Given the description of an element on the screen output the (x, y) to click on. 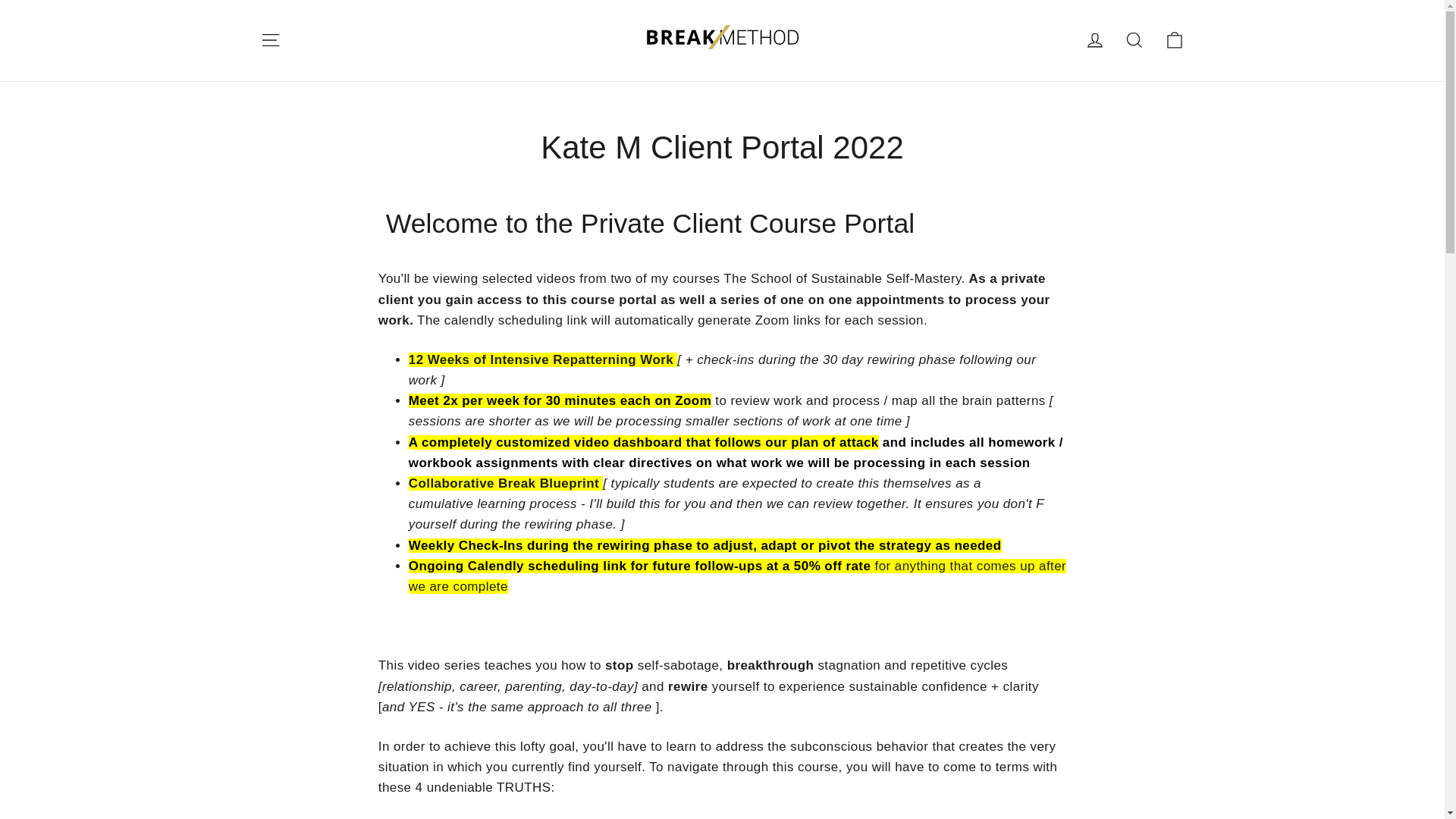
Cart (1173, 40)
Log in (1095, 40)
Site navigation (269, 40)
Search (1134, 40)
